Given the description of an element on the screen output the (x, y) to click on. 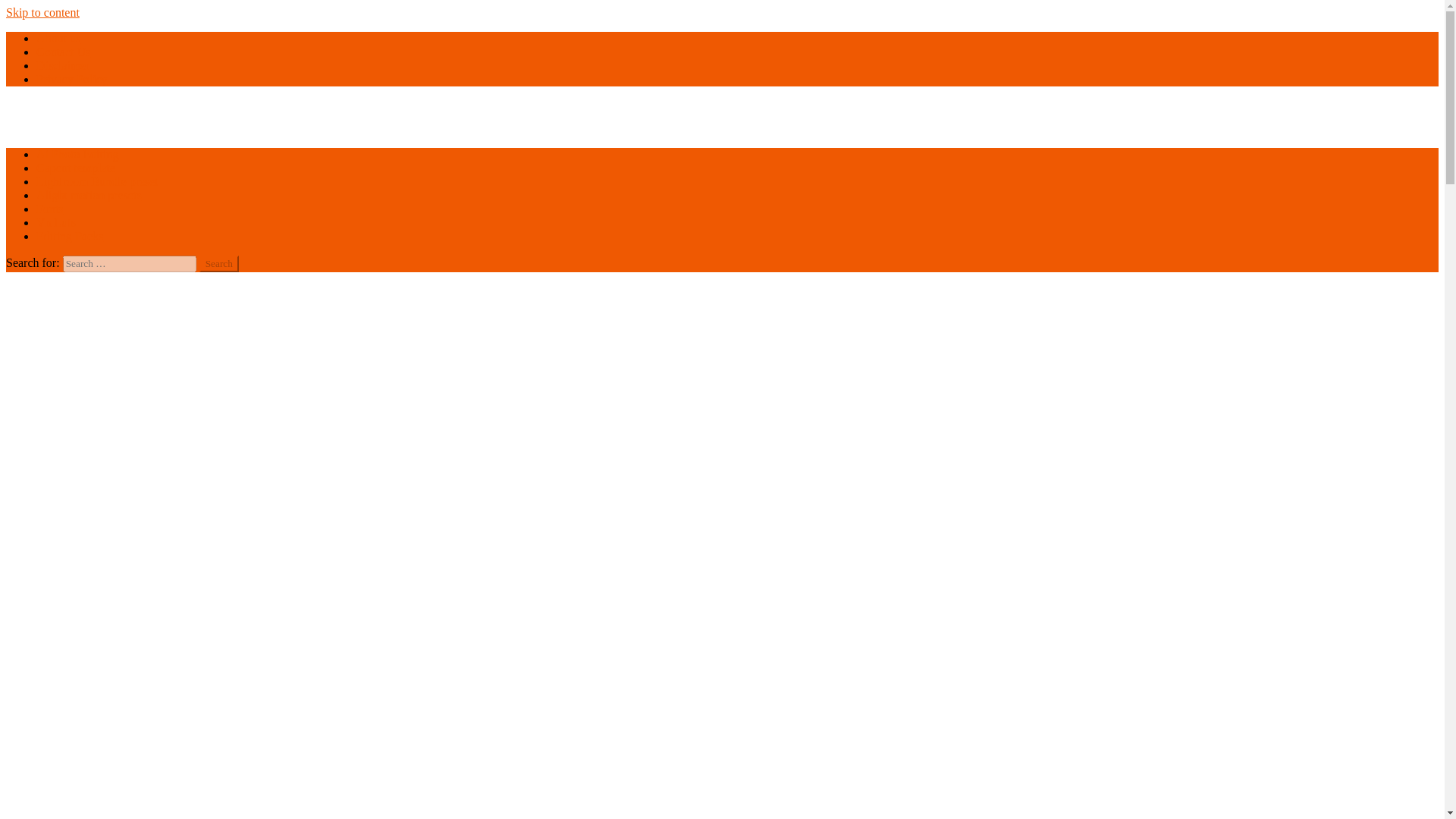
Privacy Policy (71, 78)
Skip to content (42, 11)
Alight motion presets (88, 195)
About us (58, 38)
Search (218, 263)
Vn Luts (55, 222)
Contact Us (63, 51)
Ai Photo Editing (76, 154)
Search (218, 263)
Lightroom Bundle preset (97, 181)
